Given the description of an element on the screen output the (x, y) to click on. 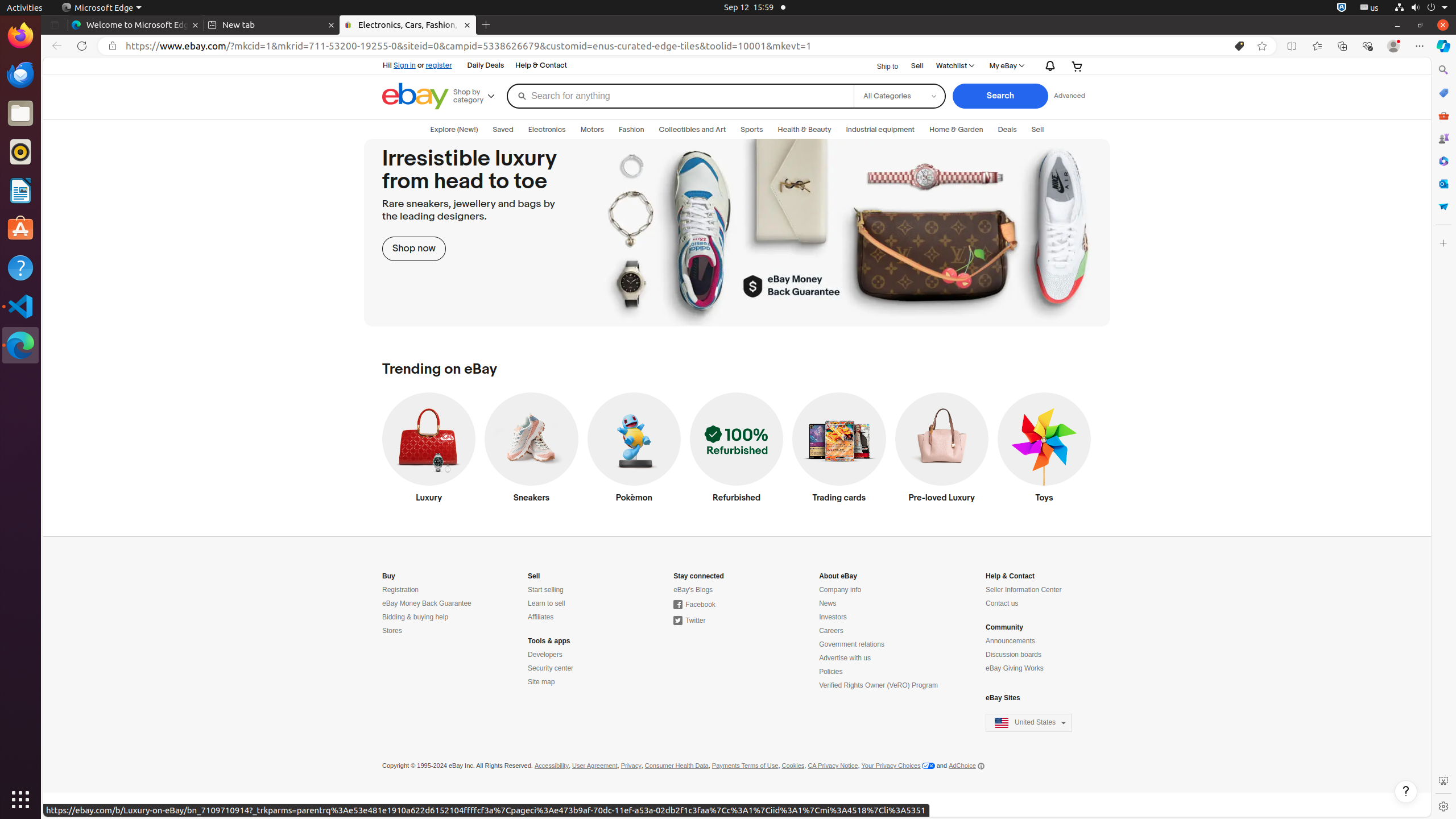
Stores Element type: link (392, 630)
Company info Element type: link (840, 589)
Copilot (Ctrl+Shift+.) Element type: push-button (1443, 45)
Payments Terms of Use Element type: link (744, 765)
Back Element type: push-button (54, 45)
